Given the description of an element on the screen output the (x, y) to click on. 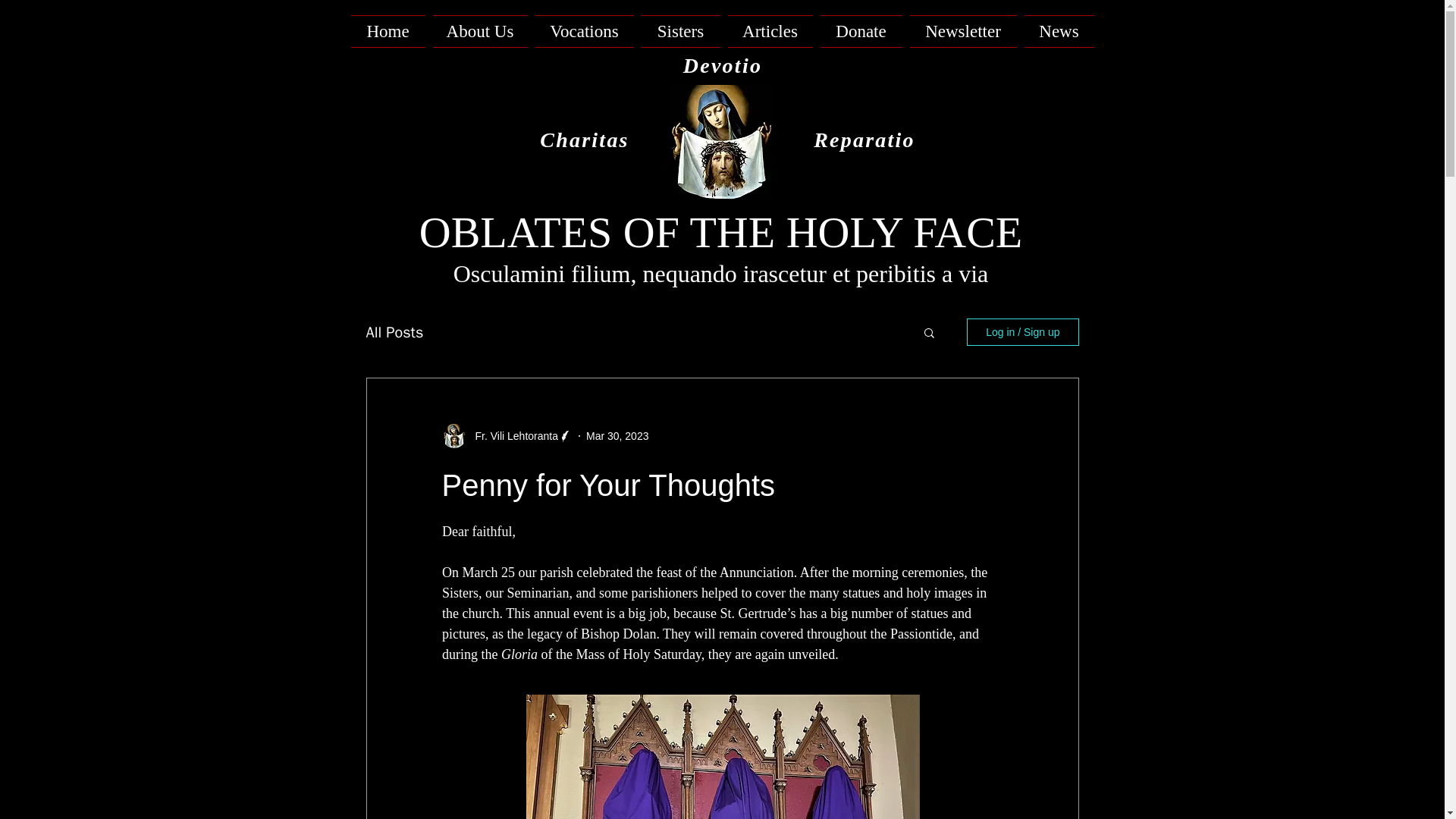
Home (389, 31)
Vocations (584, 31)
All Posts (394, 332)
Newsletter (962, 31)
News (1057, 31)
Fr. Vili Lehtoranta (511, 436)
Sisters (680, 31)
Mar 30, 2023 (617, 435)
Articles (769, 31)
Donate (860, 31)
